Given the description of an element on the screen output the (x, y) to click on. 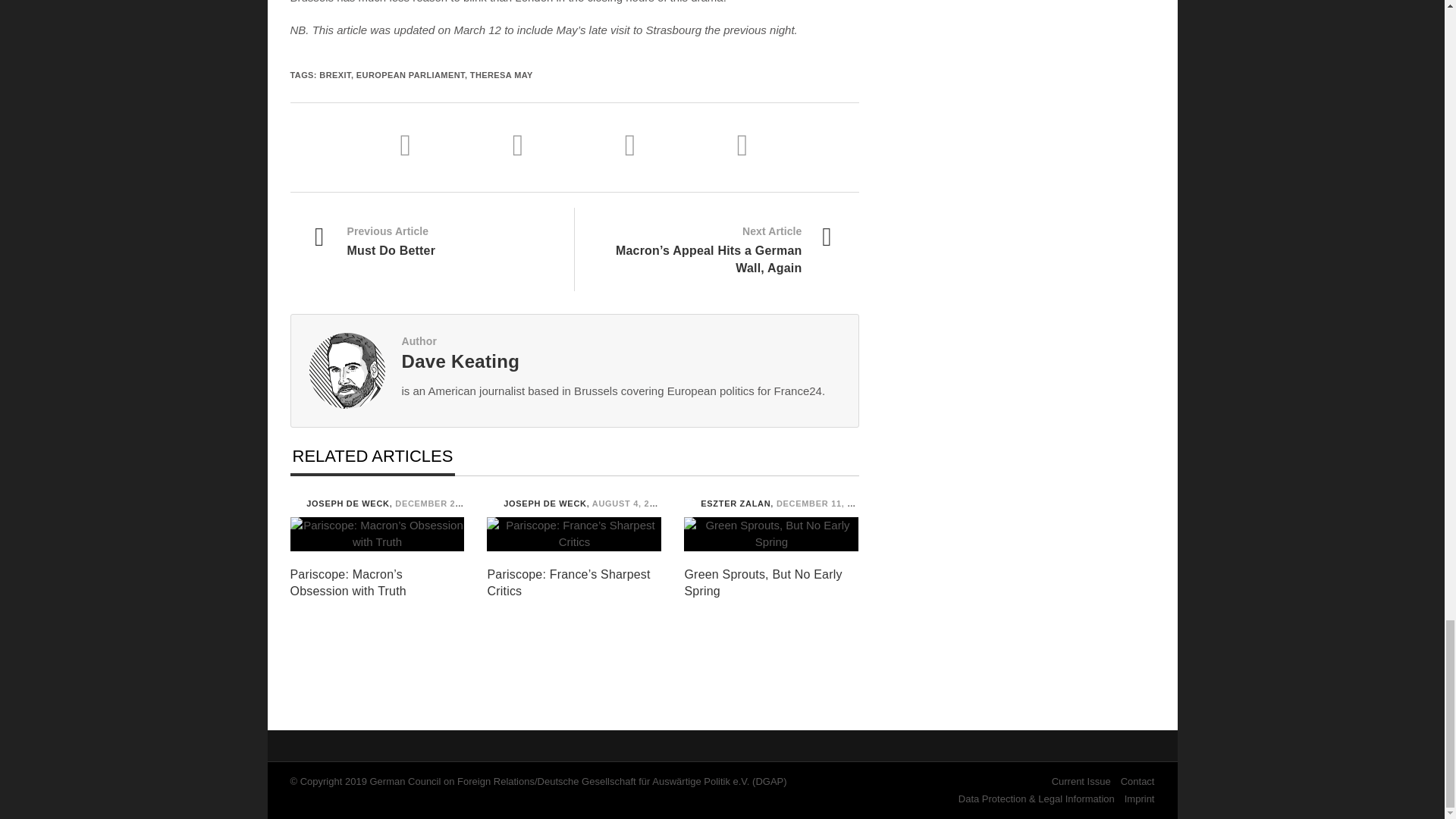
EUROPEAN PARLIAMENT (410, 74)
BREXIT (334, 74)
Share on Facebook (442, 144)
Share on Twitter (555, 144)
Joseph de Weck (294, 502)
Joseph de Weck (491, 502)
Share on Pinterest (743, 144)
THERESA MAY (501, 74)
